Given the description of an element on the screen output the (x, y) to click on. 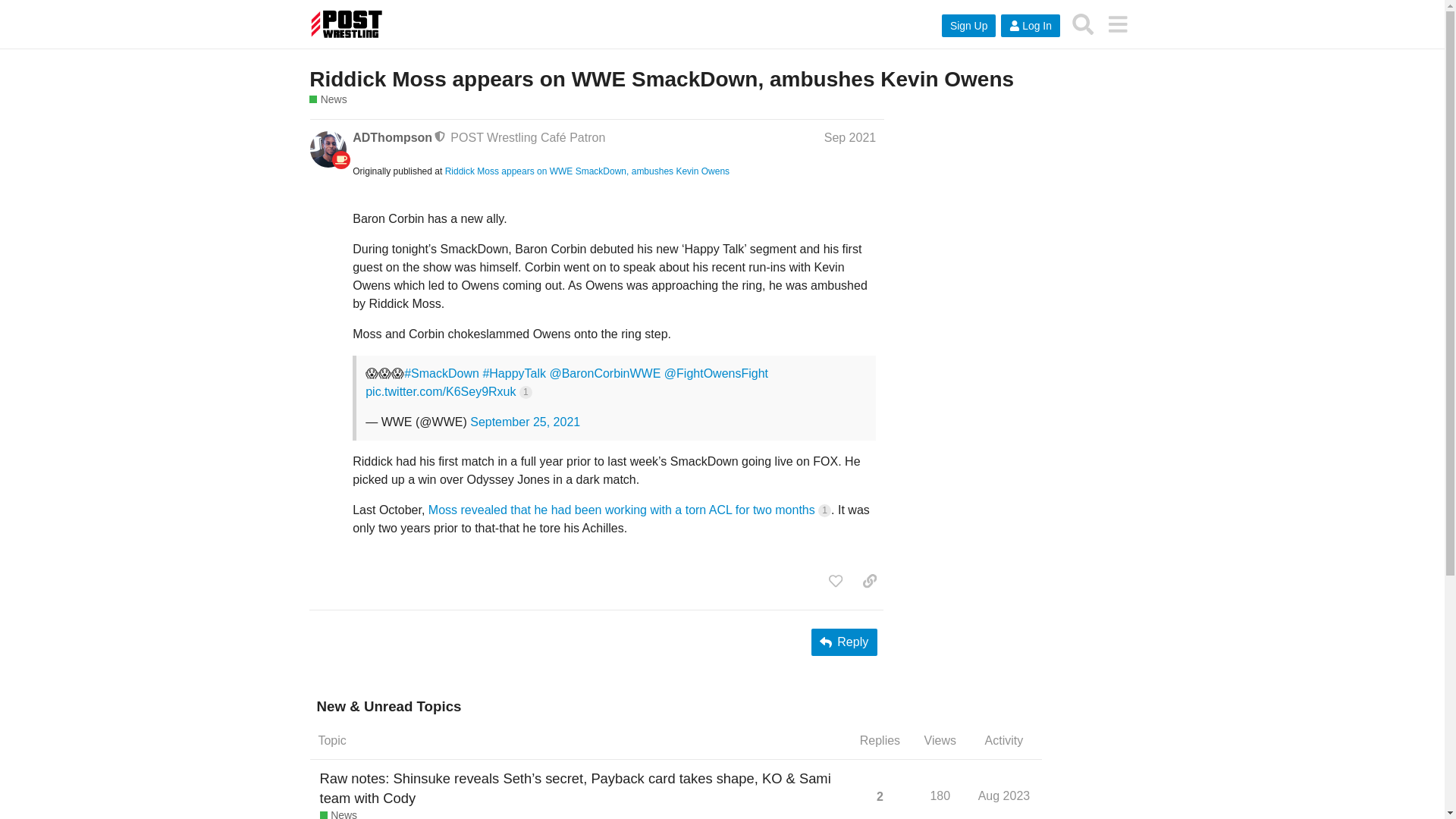
Sep 2021 (850, 137)
News (338, 813)
like this post (835, 580)
News (327, 99)
2 (879, 796)
copy a link to this post to clipboard (869, 580)
Riddick Moss appears on WWE SmackDown, ambushes Kevin Owens (587, 171)
Riddick Moss appears on WWE SmackDown, ambushes Kevin Owens (1005, 794)
Log In (660, 78)
Search (1030, 25)
ADThompson (1082, 23)
Patrons (392, 137)
